Given the description of an element on the screen output the (x, y) to click on. 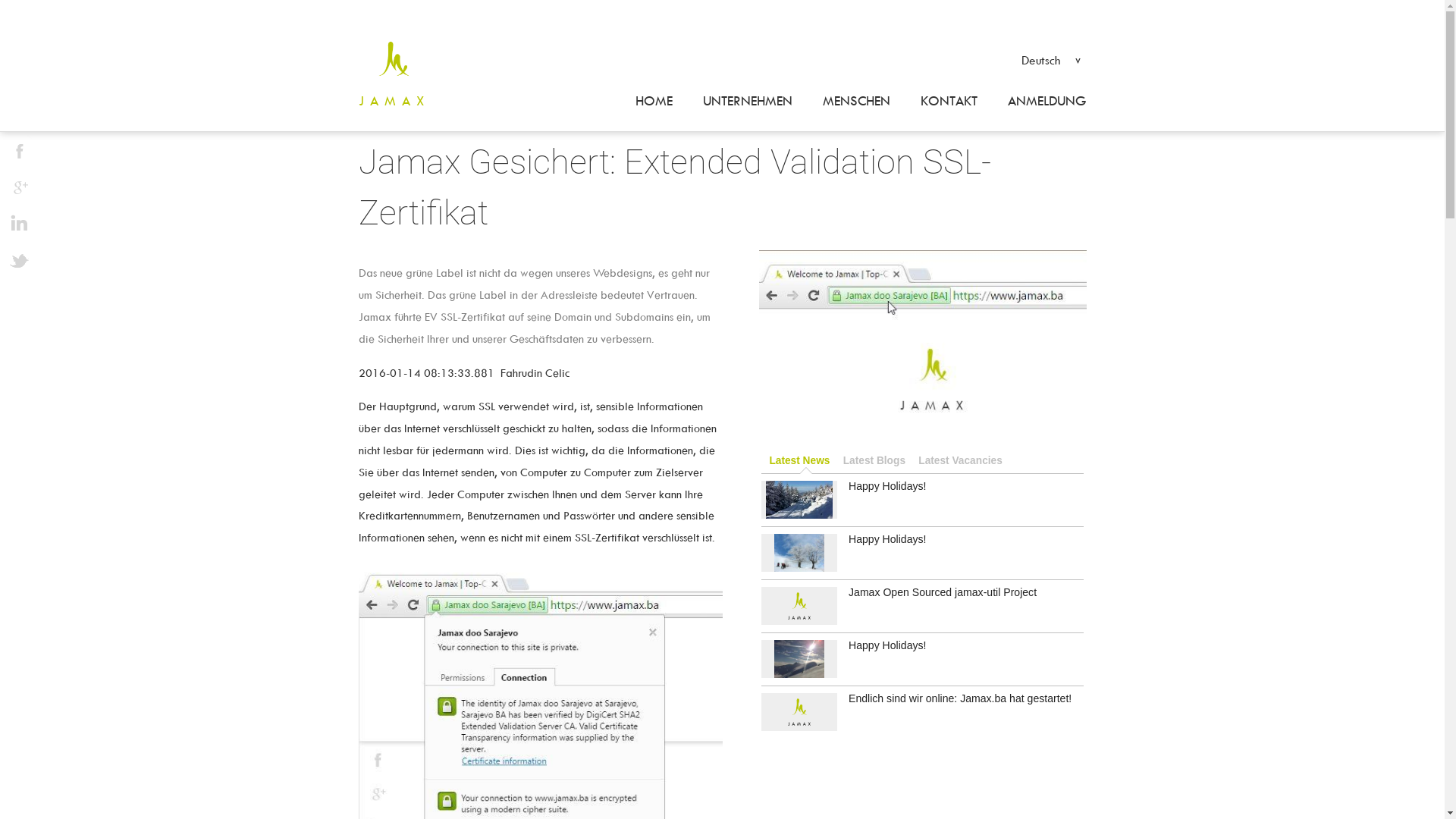
Latest Vacancies Element type: text (960, 460)
JAMAX Element type: text (400, 100)
Latest Blogs Element type: text (873, 460)
KONTAKT Element type: text (948, 100)
MENSCHEN Element type: text (855, 100)
Deutsch Element type: text (1049, 58)
HOME Element type: text (653, 100)
Auf Facebook teilen Element type: hover (18, 150)
ANMELDUNG Element type: text (1038, 100)
UNTERNEHMEN Element type: text (746, 100)
Auf Google+ teilen Element type: hover (18, 187)
Auf LinkedIn teilen Element type: hover (18, 223)
Auf Twitter teilen Element type: hover (18, 259)
Latest News Element type: text (799, 460)
